Given the description of an element on the screen output the (x, y) to click on. 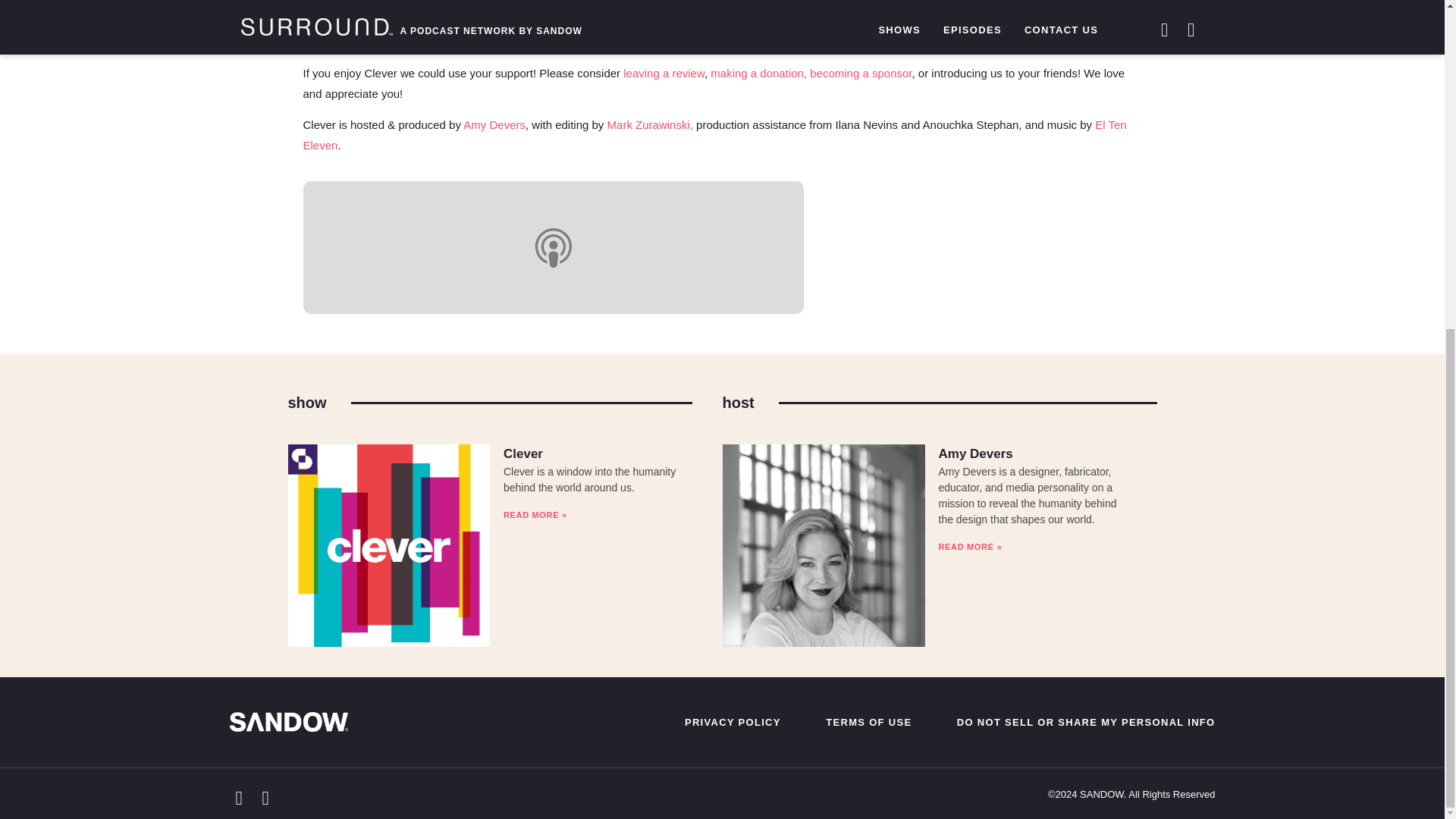
Instagram (490, 41)
El Ten Eleven (714, 134)
making a donation, becoming a sponsor (810, 72)
Facebook (566, 41)
leaving a review (663, 72)
Mark Zurawinski, (650, 124)
Amy Devers (494, 124)
Amy Devers (974, 453)
Twitter (443, 41)
Clever (523, 453)
